Given the description of an element on the screen output the (x, y) to click on. 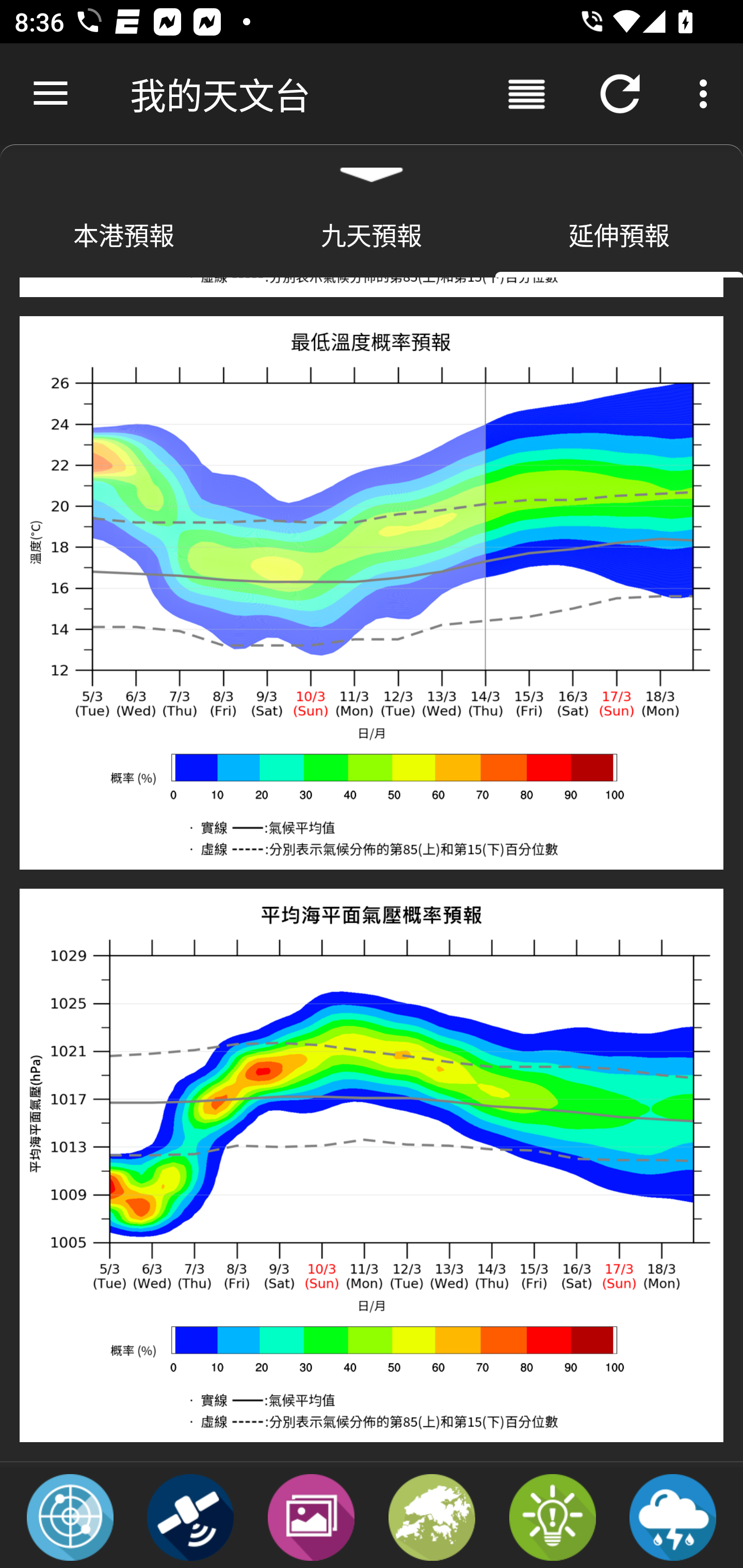
向上瀏覽 (50, 93)
直向佈局 (525, 93)
重新整理 (619, 93)
更多選項 (706, 93)
隱藏 (371, 167)
本港預報 (123, 234)
九天預報 (371, 234)
雷達圖像 (69, 1516)
衛星圖像 (190, 1516)
天氣照片 (310, 1516)
分區天氣 (431, 1516)
天氣提示 (551, 1516)
定點降雨及閃電預報 (672, 1516)
